Given the description of an element on the screen output the (x, y) to click on. 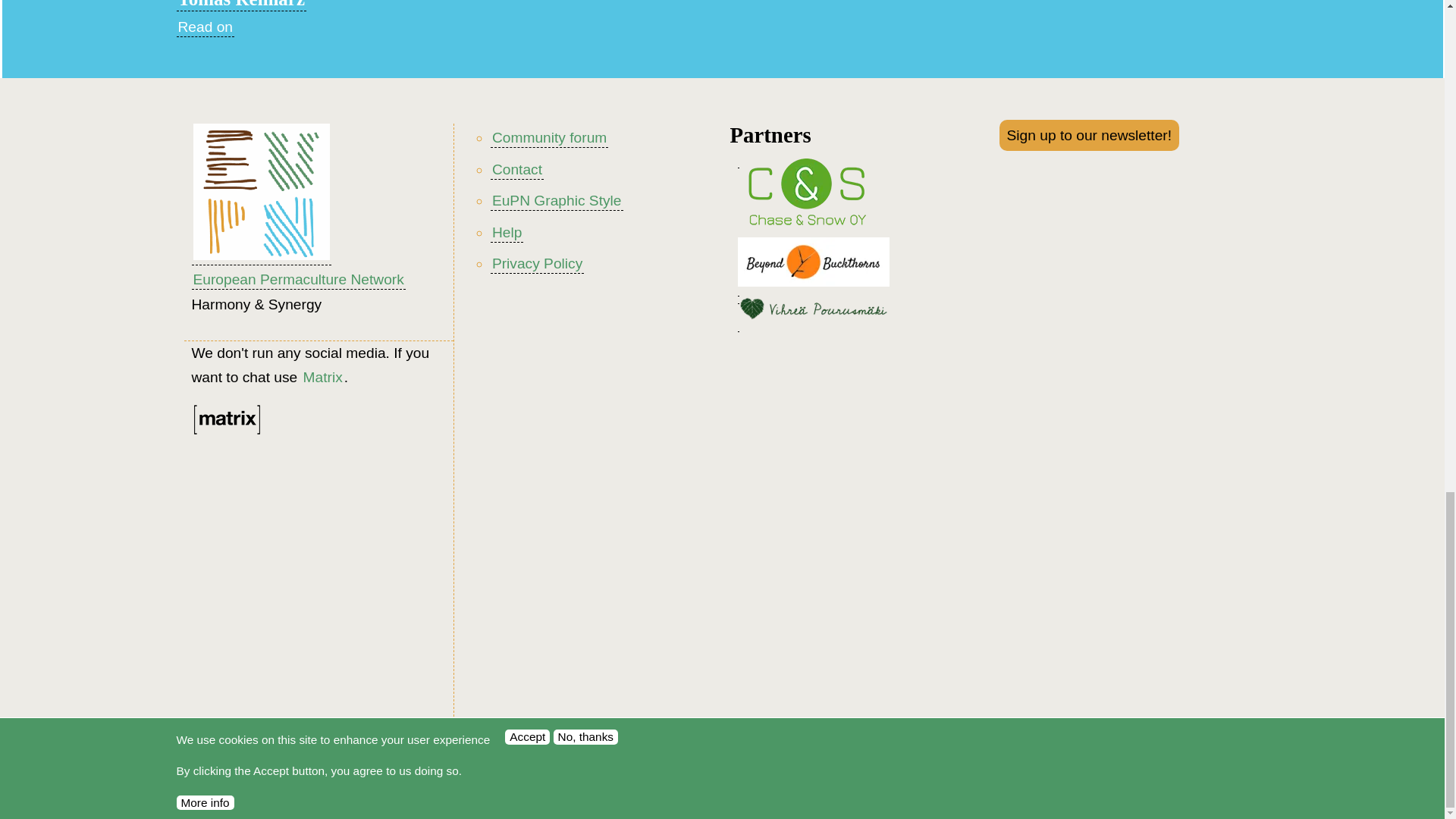
EuPN community forum (549, 137)
Newsletter (1088, 134)
